Given the description of an element on the screen output the (x, y) to click on. 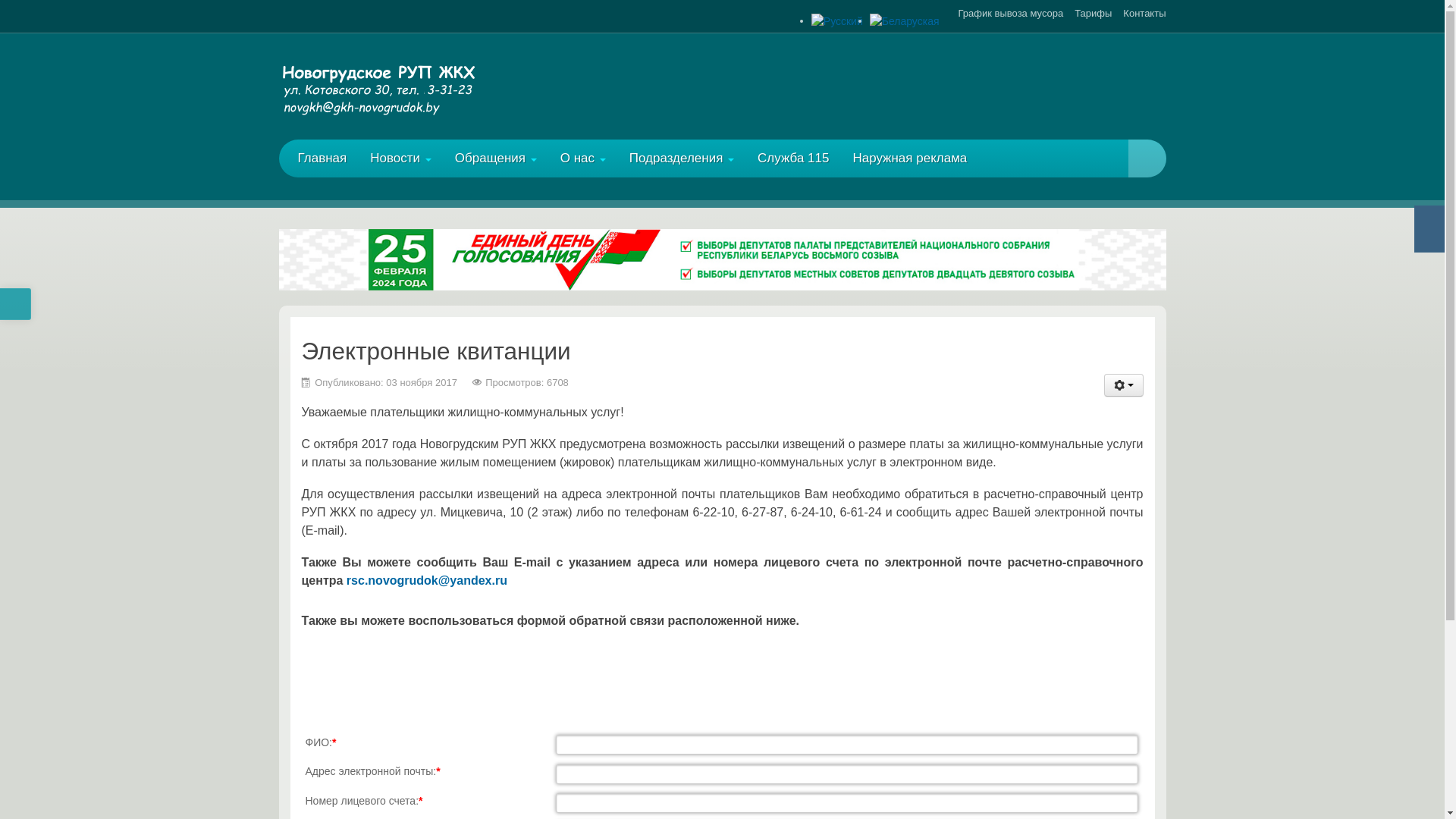
rsc.novogrudok@yandex.ru Element type: text (426, 580)
